Given the description of an element on the screen output the (x, y) to click on. 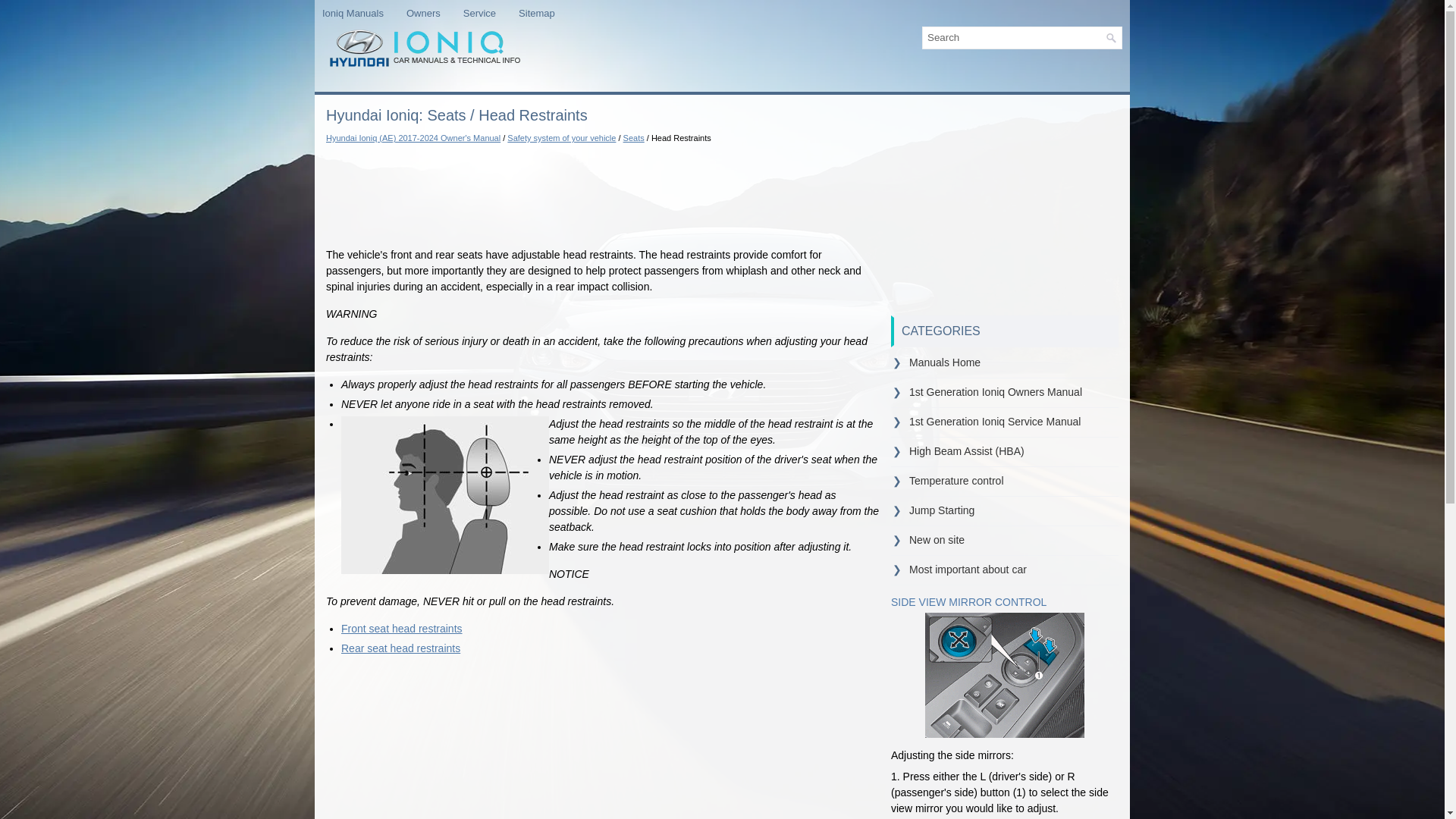
Hyundai Ioniq Owners Manual (434, 13)
Jump Starting (941, 510)
Advertisement (1004, 208)
Search (1110, 37)
Front seat head restraints (401, 627)
Hyundai Ioniq Service Manual (490, 13)
Advertisement (602, 743)
Seats (634, 137)
Manuals Home (943, 362)
Advertisement (602, 189)
